Given the description of an element on the screen output the (x, y) to click on. 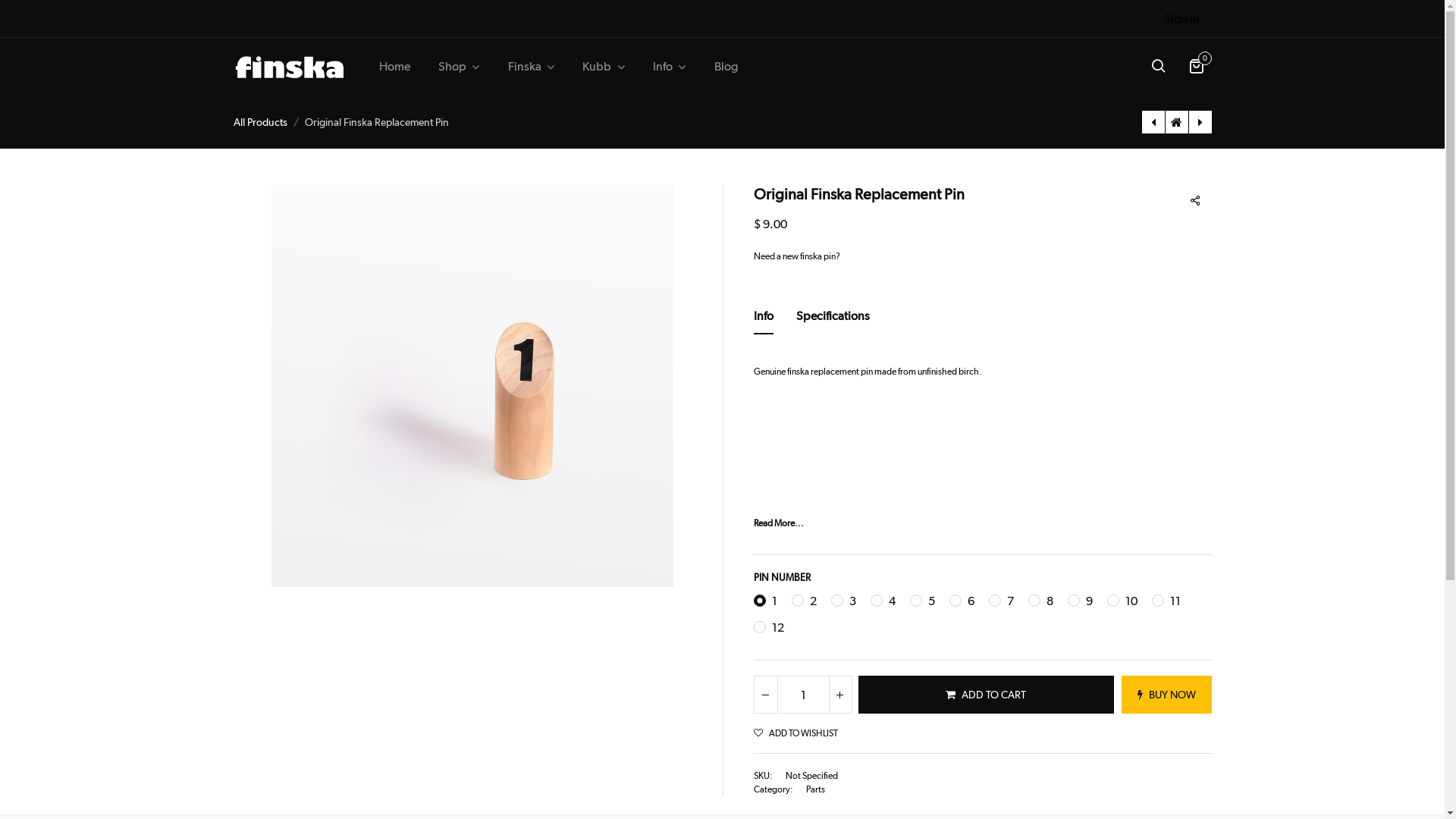
Shop Element type: text (458, 66)
info Element type: text (763, 320)
Remove one Element type: hover (764, 694)
Blog Element type: text (725, 66)
specifications Element type: text (832, 320)
BUY NOW Element type: text (1165, 694)
Add one Element type: hover (839, 694)
ADD TO WISHLIST Element type: text (795, 732)
Kubb Element type: text (603, 66)
ADD TO CART Element type: text (985, 694)
0 Element type: text (1196, 66)
Home Element type: text (394, 66)
Finska Element type: hover (289, 66)
Finska Element type: text (531, 66)
Read More... Element type: text (778, 523)
All Products Element type: text (260, 121)
Info Element type: text (669, 66)
Sign in Element type: text (1181, 18)
